Given the description of an element on the screen output the (x, y) to click on. 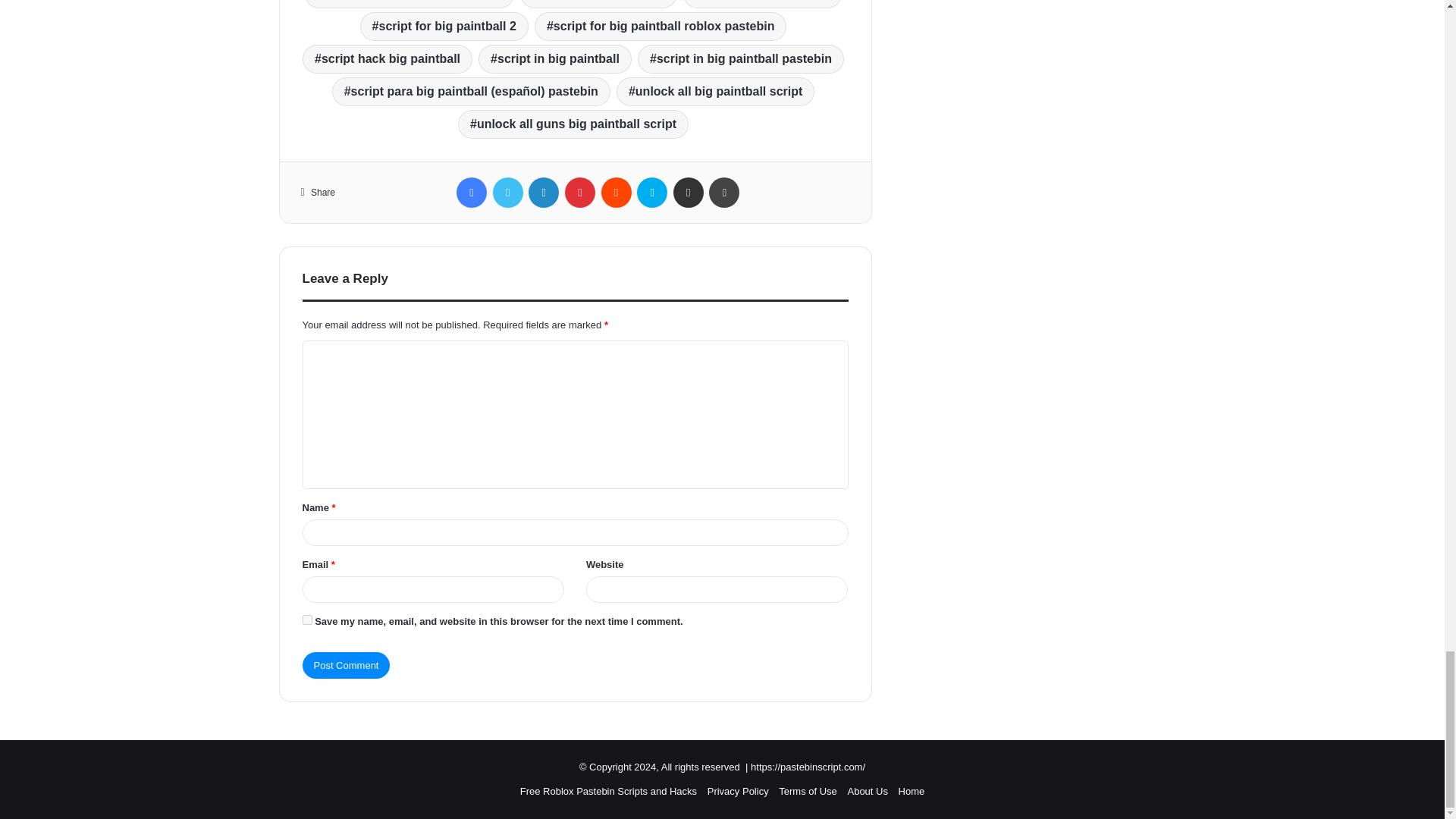
Reddit (616, 192)
Post Comment (345, 664)
Skype (651, 192)
About Us (866, 790)
Print (724, 192)
Facebook (471, 192)
Pinterest (579, 192)
yes (306, 619)
LinkedIn (543, 192)
Share via Email (687, 192)
Twitter (507, 192)
